Given the description of an element on the screen output the (x, y) to click on. 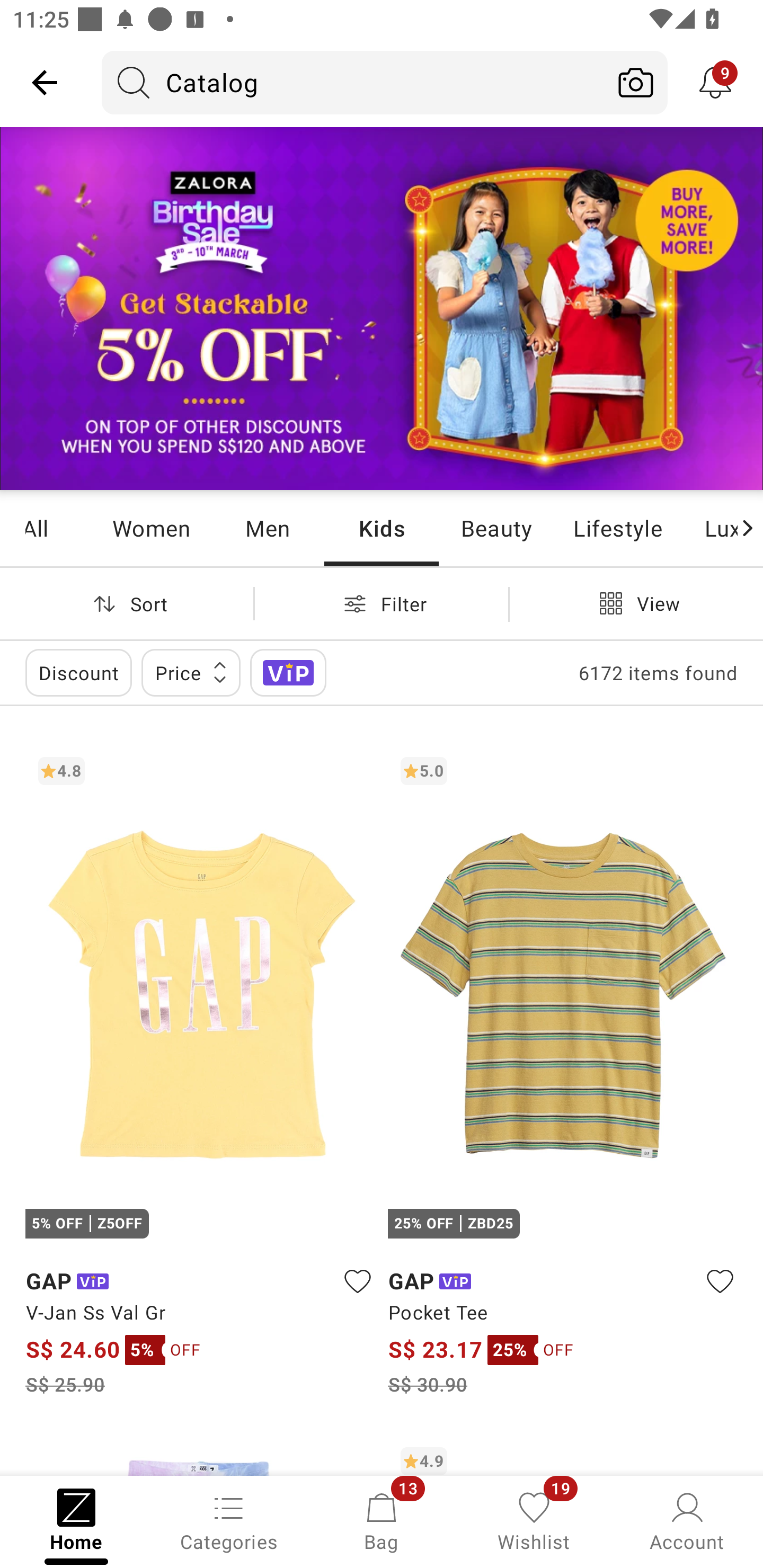
Navigate up (44, 82)
Catalog (352, 82)
All (59, 527)
Women (151, 527)
Men (266, 527)
Beauty (495, 527)
Lifestyle (617, 527)
Luxury (709, 527)
Sort (126, 603)
Filter (381, 603)
View (636, 603)
Discount (78, 672)
Price (190, 672)
Categories (228, 1519)
Bag, 13 new notifications Bag (381, 1519)
Wishlist, 19 new notifications Wishlist (533, 1519)
Account (686, 1519)
